Given the description of an element on the screen output the (x, y) to click on. 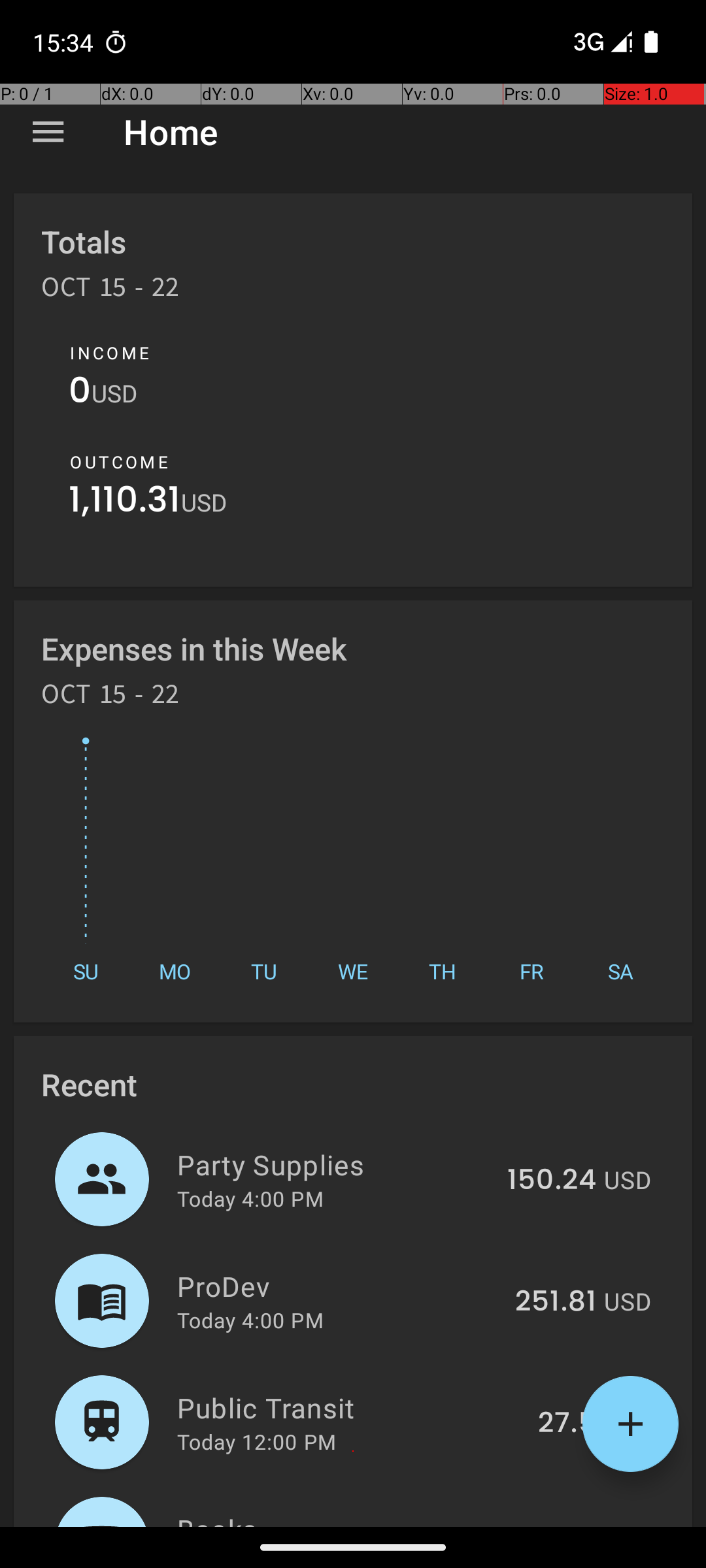
1,110.31 Element type: android.widget.TextView (124, 502)
150.24 Element type: android.widget.TextView (551, 1180)
ProDev Element type: android.widget.TextView (338, 1285)
251.81 Element type: android.widget.TextView (555, 1301)
Public Transit Element type: android.widget.TextView (349, 1407)
27.5 Element type: android.widget.TextView (566, 1423)
Books Element type: android.widget.TextView (330, 1518)
258.84 Element type: android.widget.TextView (547, 1524)
